Given the description of an element on the screen output the (x, y) to click on. 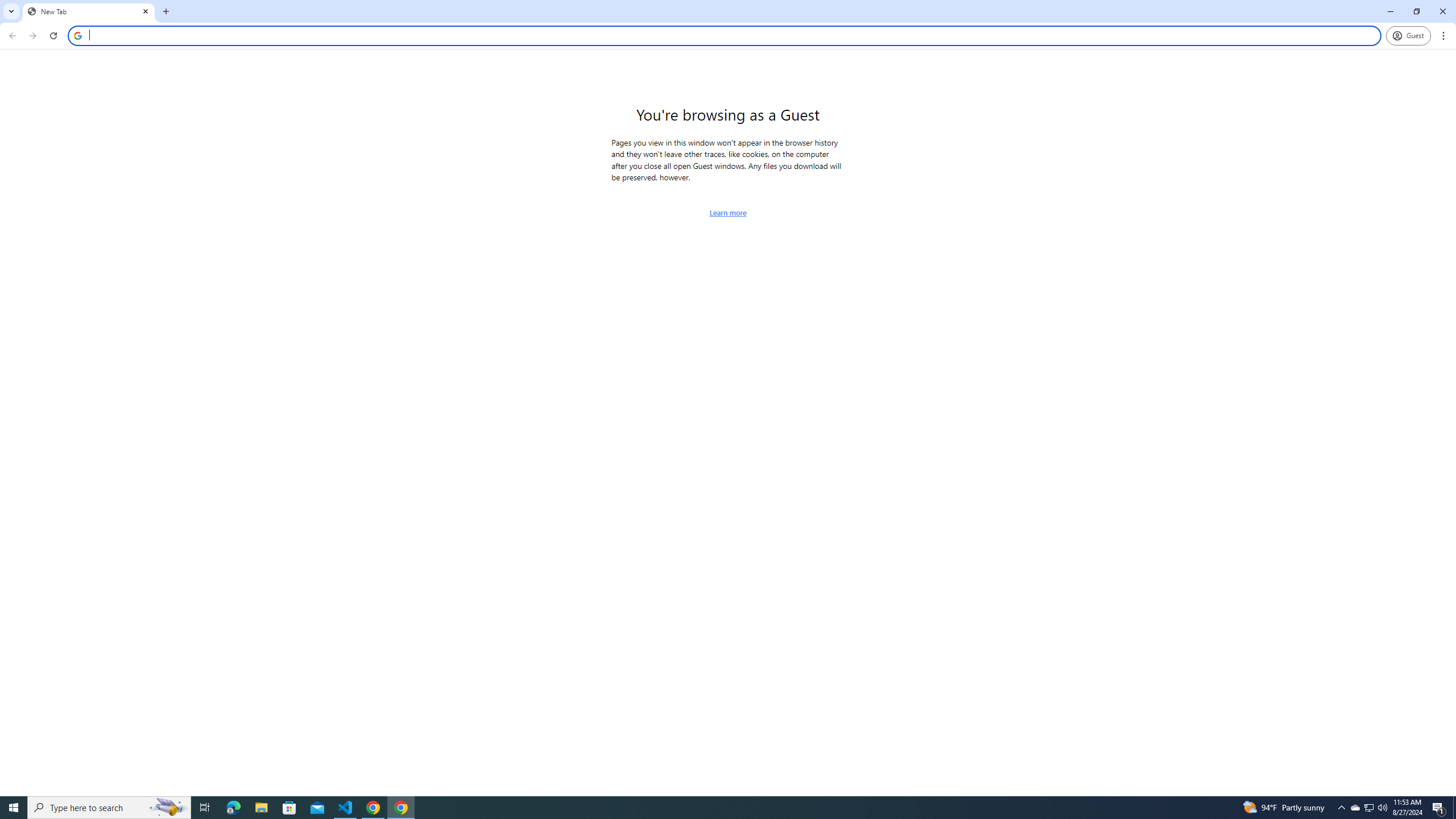
Learn more about browsing as a guest (727, 212)
Search icon (77, 35)
Guest (1408, 35)
New Tab (88, 11)
